Given the description of an element on the screen output the (x, y) to click on. 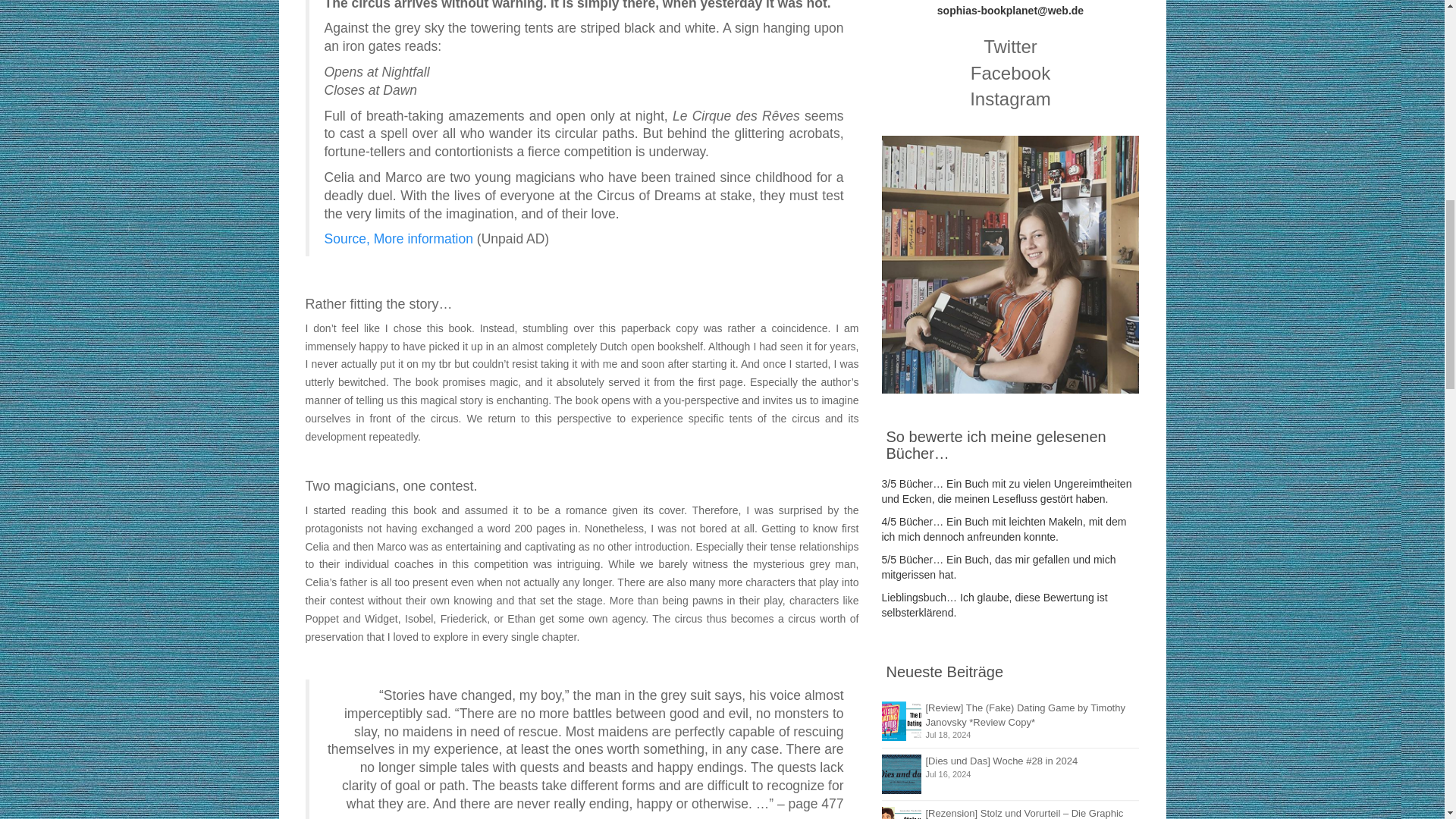
Source, More information (398, 238)
